Given the description of an element on the screen output the (x, y) to click on. 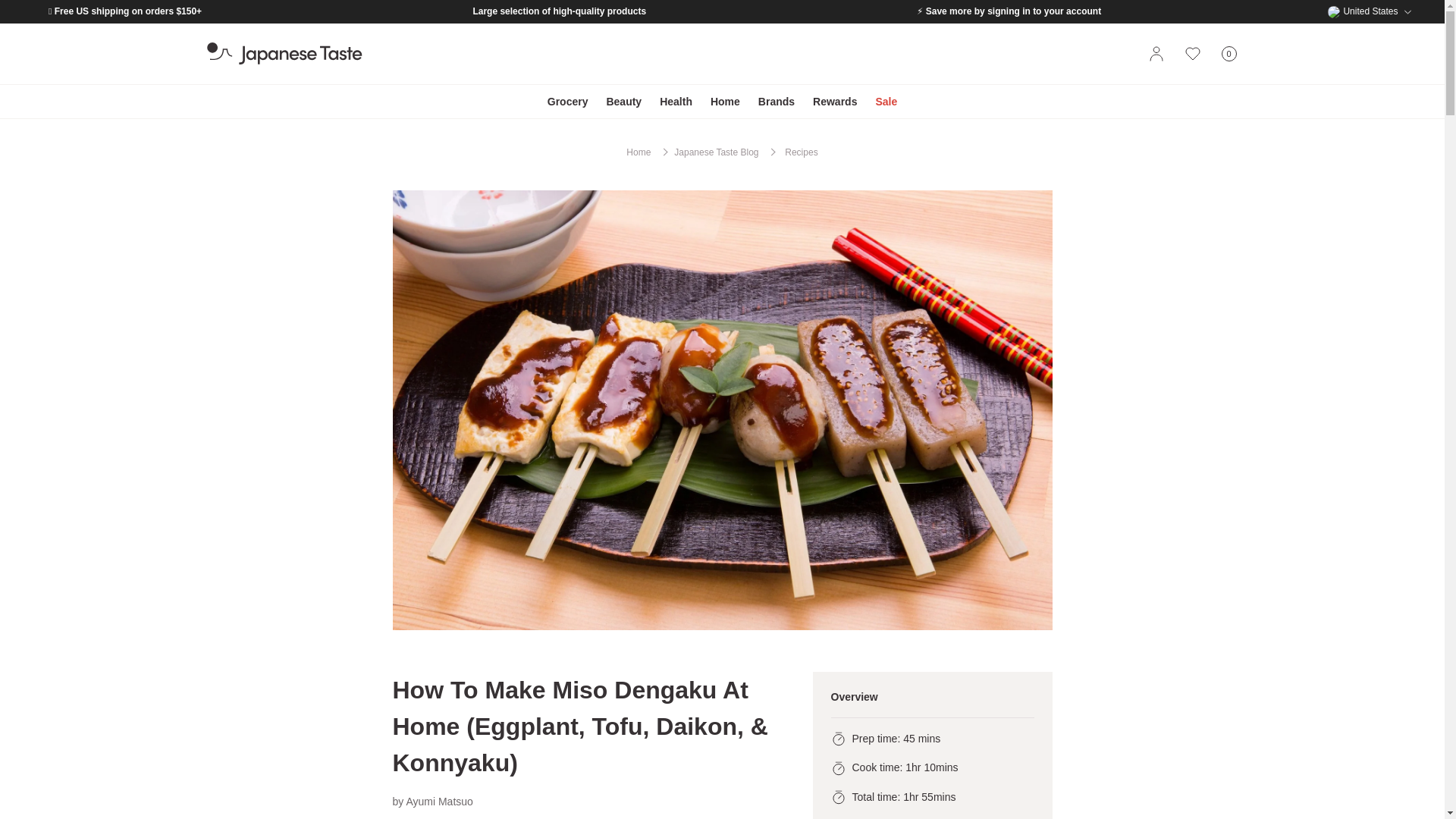
Japanese Taste (283, 53)
Grocery (1228, 54)
United States (567, 101)
